Given the description of an element on the screen output the (x, y) to click on. 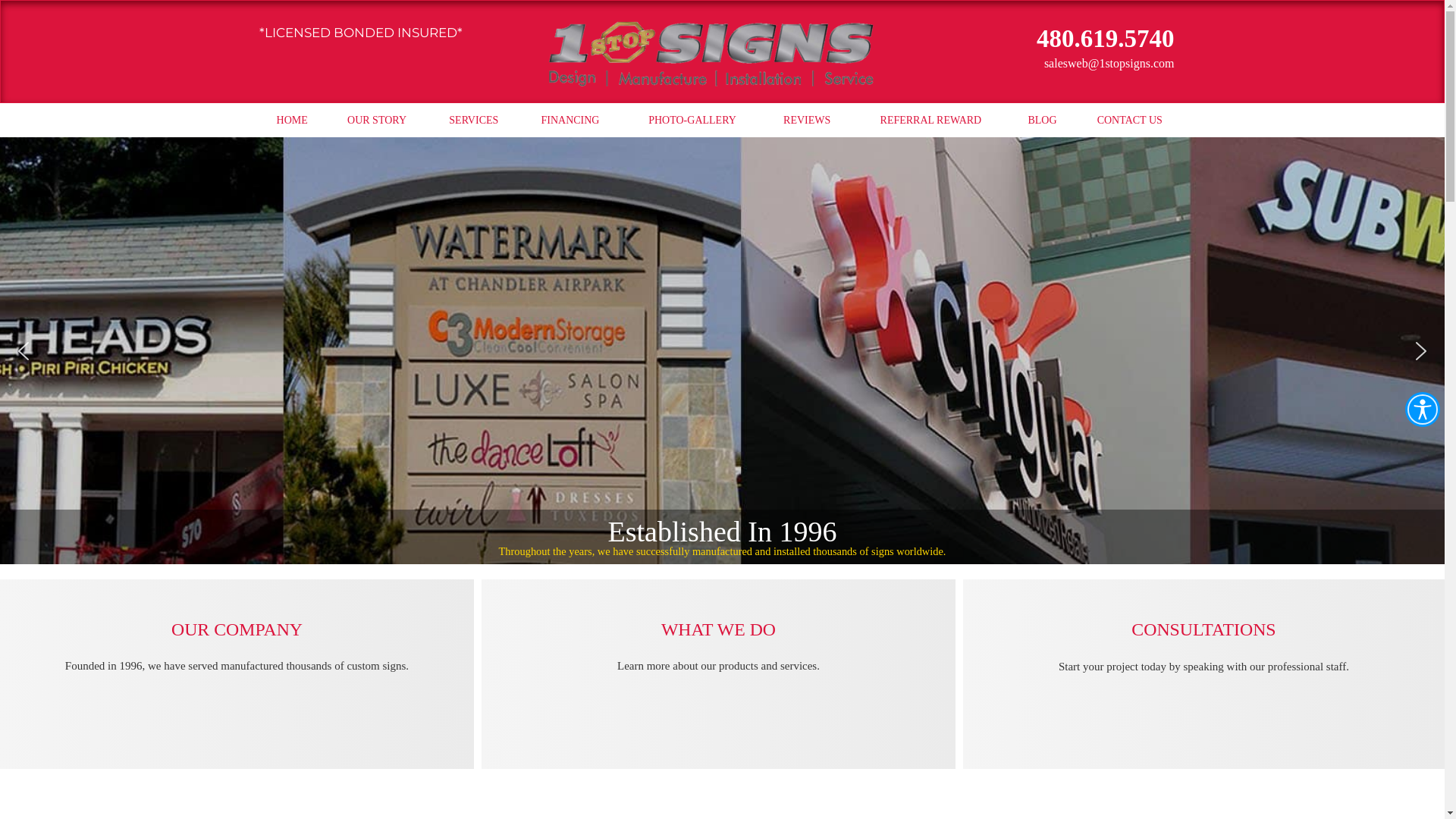
HOME Element type: text (292, 120)
480.619.5740 Element type: text (1105, 41)
PHOTO-GALLERY Element type: text (692, 120)
WHAT WE DO
Learn more about our products and services. Element type: text (718, 653)
salesweb@1stopsigns.com Element type: text (1067, 63)
SERVICES Element type: text (473, 120)
REFERRAL REWARD Element type: text (930, 120)
REVIEWS Element type: text (806, 120)
CONTACT US Element type: text (1129, 120)
OUR STORY Element type: text (376, 120)
BLOG Element type: text (1041, 120)
FINANCING Element type: text (569, 120)
Custom made storefront signs by 1 Stop Signs Element type: hover (722, 350)
